Given the description of an element on the screen output the (x, y) to click on. 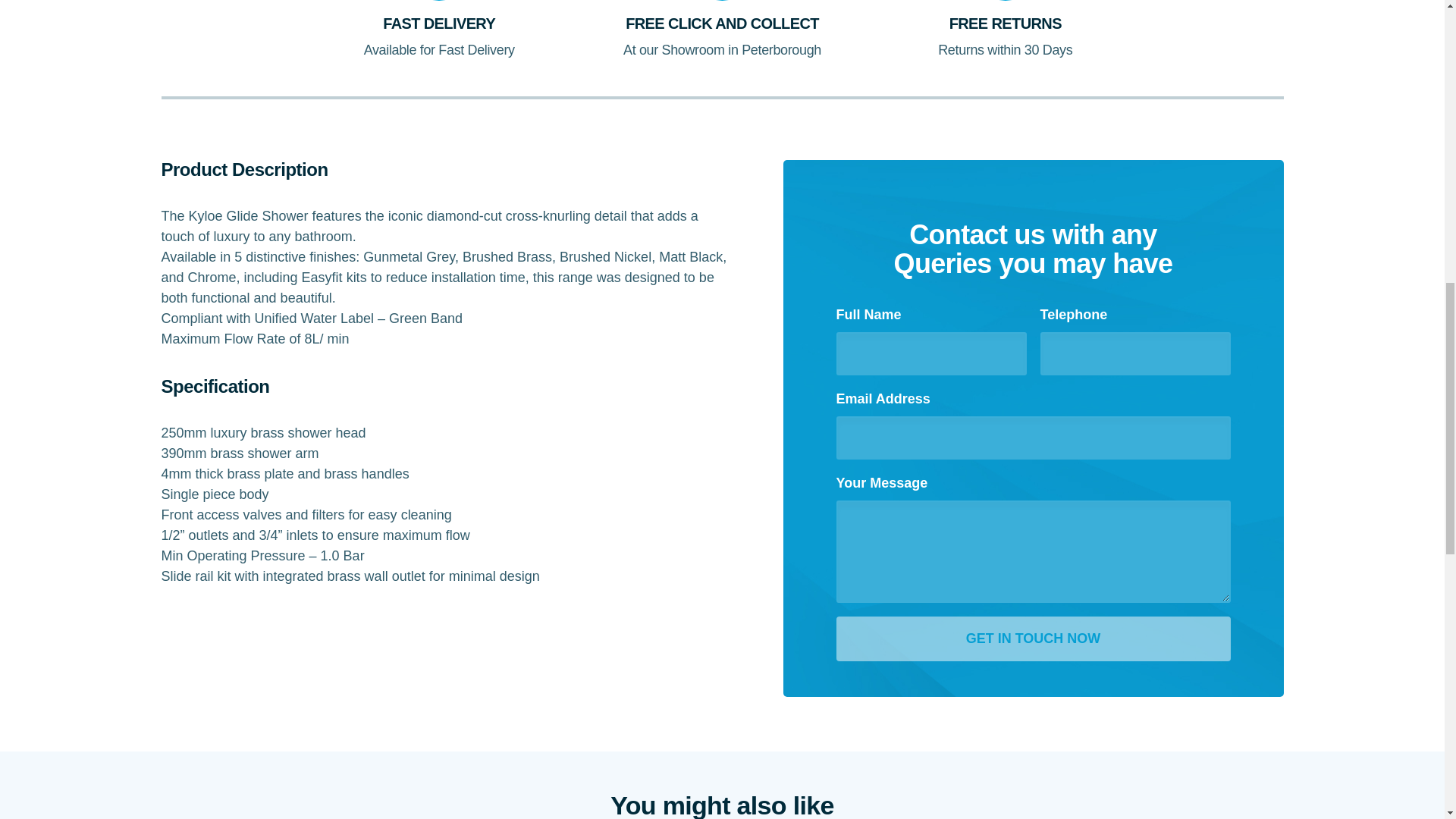
Get in touch now (1032, 638)
